Given the description of an element on the screen output the (x, y) to click on. 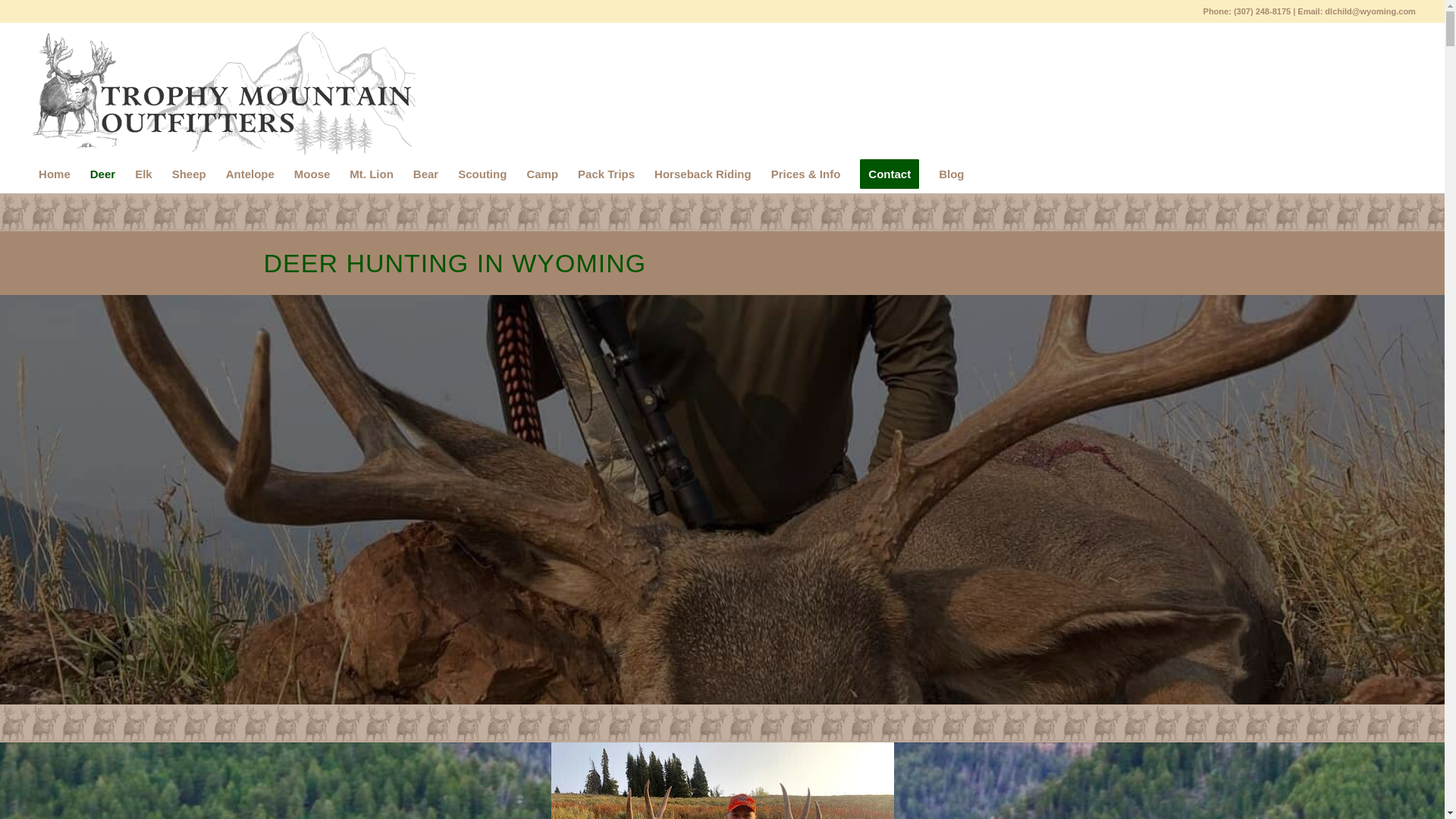
Pack Trips (606, 174)
Bear (425, 174)
Home (54, 174)
Scouting (482, 174)
Deer (102, 174)
Antelope (249, 174)
Moose (311, 174)
Blog (951, 174)
Horseback Riding (703, 174)
Contact (889, 174)
